Given the description of an element on the screen output the (x, y) to click on. 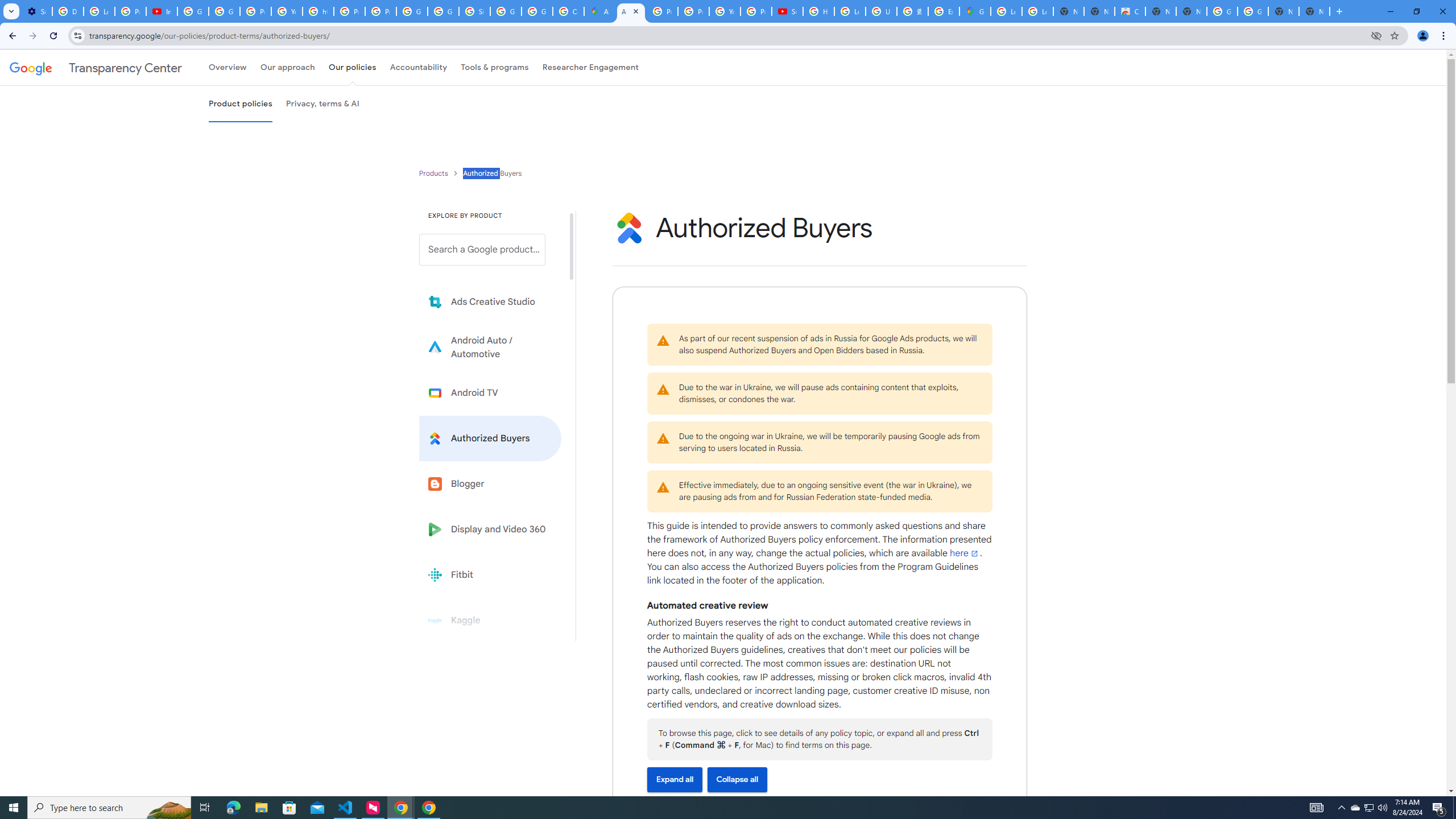
Accountability (418, 67)
Learn more about Android TV (490, 393)
Introduction | Google Privacy Policy - YouTube (161, 11)
Chrome Web Store (1129, 11)
Google Images (1252, 11)
Product policies (434, 173)
Google Account Help (223, 11)
